Given the description of an element on the screen output the (x, y) to click on. 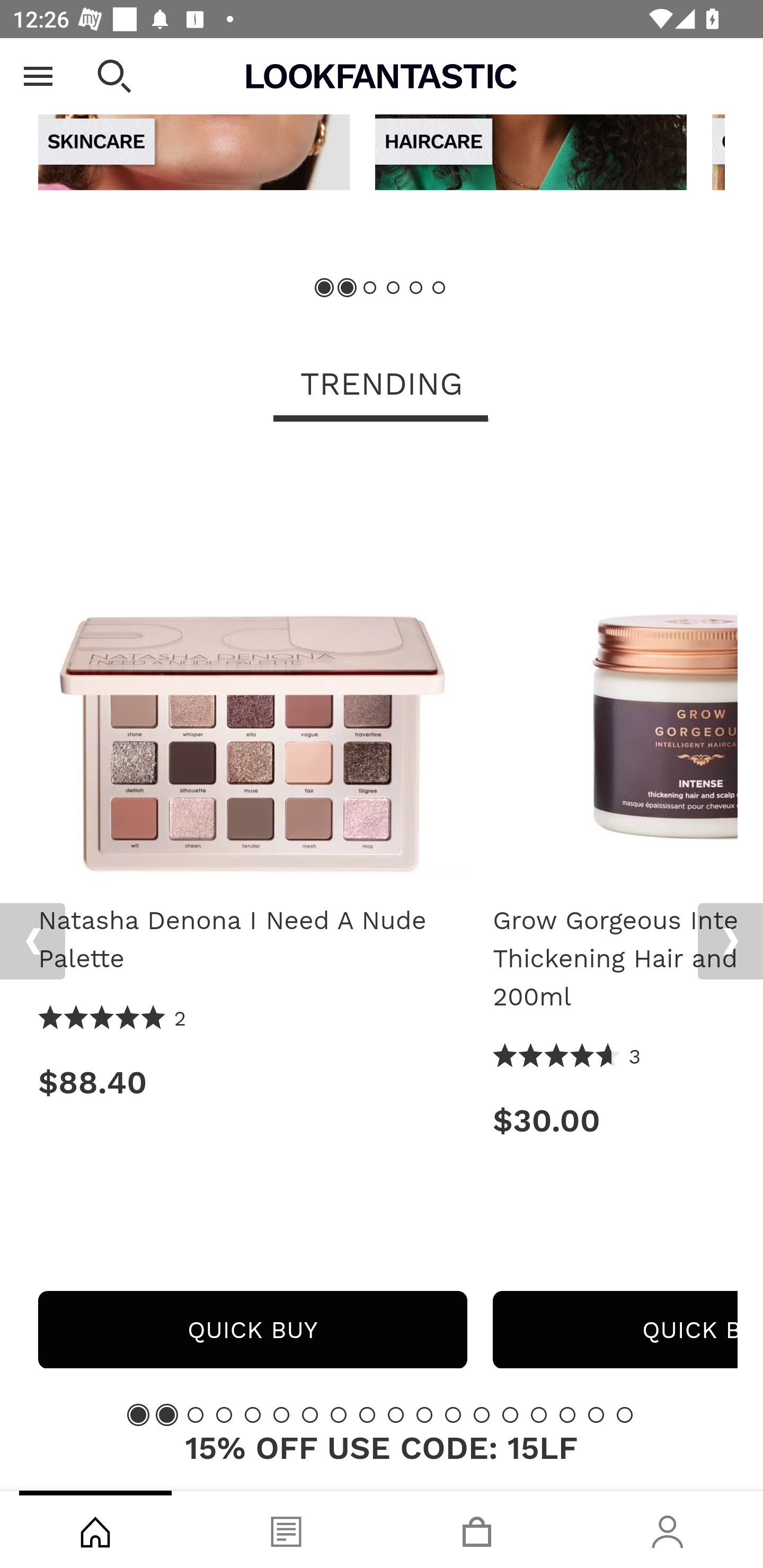
Previous (35, 67)
Showing Slide 1 (Current Item) (324, 288)
Showing Slide 2 (Current Item) (347, 288)
Slide 3 (369, 288)
Slide 4 (393, 288)
Slide 5 (415, 288)
Slide 6 (437, 288)
TRENDING (381, 386)
Natasha Denona I Need A Nude Palette (252, 668)
Natasha Denona I Need A Nude Palette (252, 939)
Previous (32, 941)
Next (730, 941)
5.0 Stars 2 Reviews (112, 1019)
4.67 Stars 3 Reviews (567, 1057)
Price: $88.40 (252, 1082)
Price: $30.00 (614, 1120)
QUICK BUY NATASHA DENONA I NEED A NUDE PALETTE (252, 1330)
Showing Slide 1 (Current Item) (138, 1414)
Showing Slide 2 (Current Item) (166, 1414)
Slide 3 (195, 1414)
Slide 4 (223, 1414)
Slide 5 (252, 1414)
Slide 6 (281, 1414)
Slide 7 (310, 1414)
Slide 8 (338, 1414)
Slide 9 (367, 1414)
Slide 10 (395, 1414)
Slide 11 (424, 1414)
Slide 12 (452, 1414)
Slide 13 (481, 1414)
Slide 14 (510, 1414)
Slide 15 (539, 1414)
Slide 16 (567, 1414)
Slide 17 (596, 1414)
Slide 18 (624, 1414)
Shop, tab, 1 of 4 (95, 1529)
Blog, tab, 2 of 4 (285, 1529)
Basket, tab, 3 of 4 (476, 1529)
Account, tab, 4 of 4 (667, 1529)
